Given the description of an element on the screen output the (x, y) to click on. 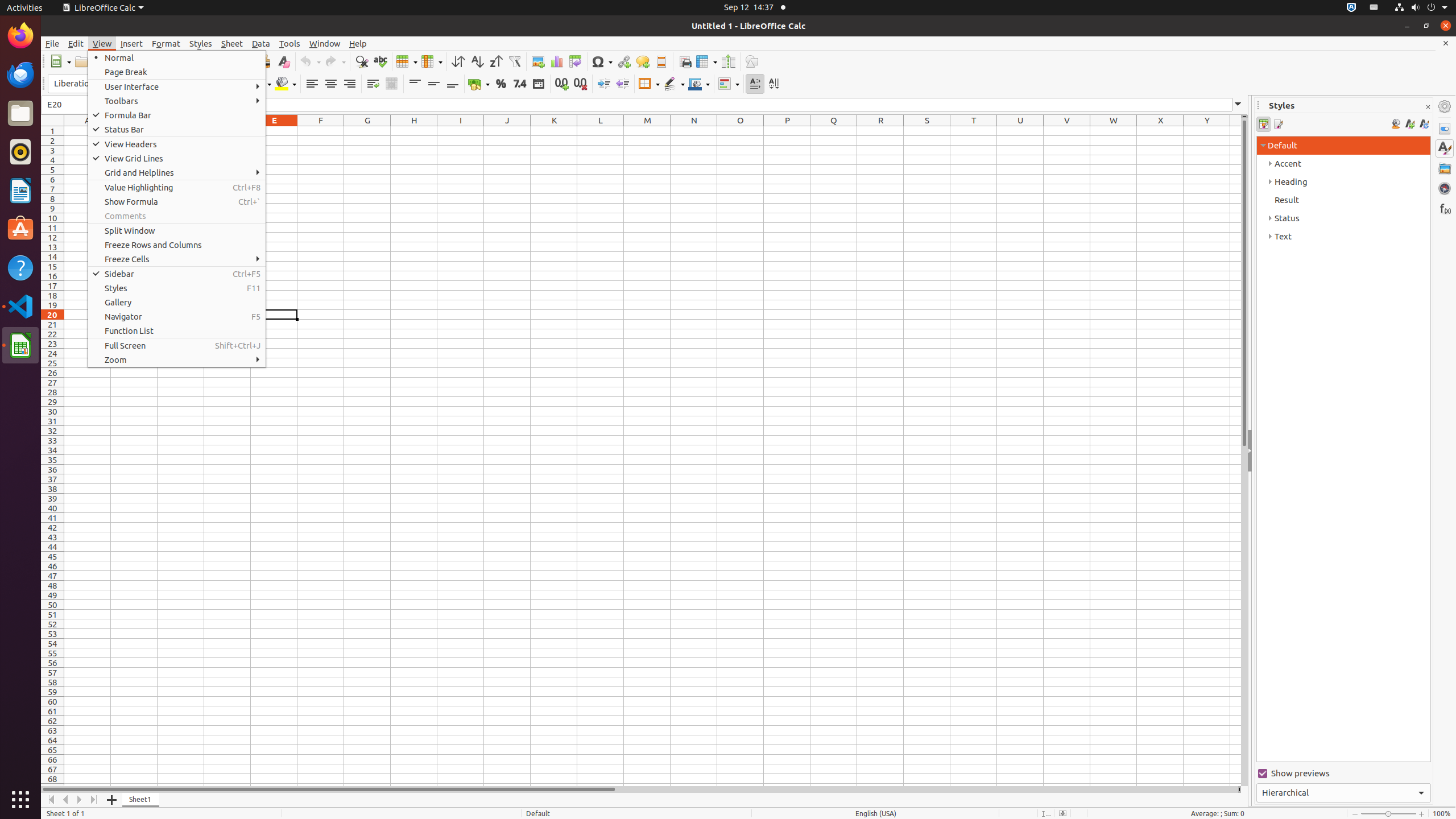
Functions Element type: radio-button (1444, 208)
Headers and Footers Element type: push-button (660, 61)
:1.72/StatusNotifierItem Element type: menu (1350, 7)
Chart Element type: push-button (556, 61)
Freeze Rows and Columns Element type: push-button (705, 61)
